Given the description of an element on the screen output the (x, y) to click on. 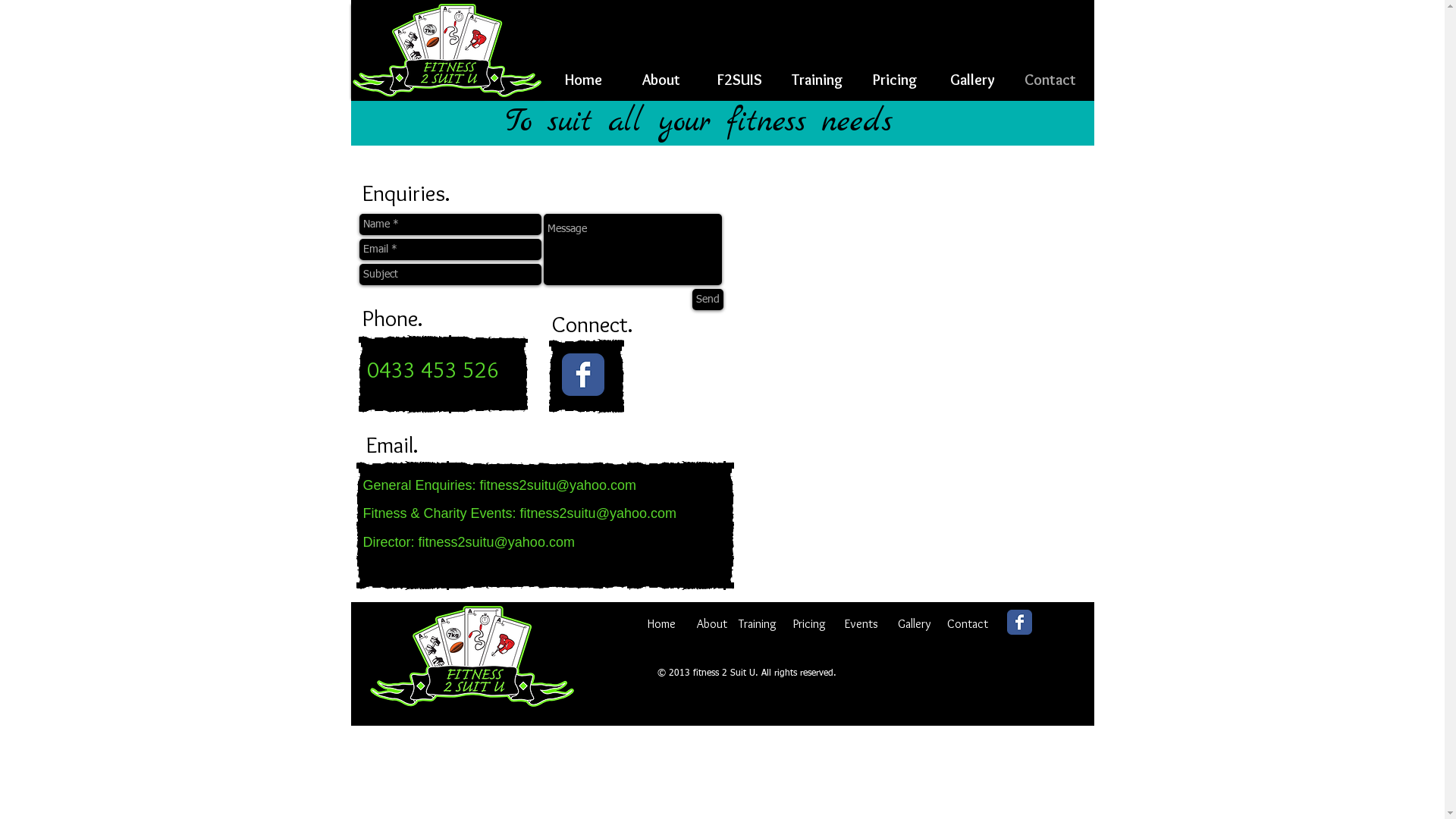
logo+1.png Element type: hover (446, 50)
Gallery Element type: text (913, 620)
Contact Element type: text (1049, 79)
Training Element type: text (757, 620)
Home Element type: text (661, 620)
Pricing Element type: text (809, 620)
fitness2suitu@yahoo.com Element type: text (558, 484)
logo+1.png Element type: hover (472, 656)
F2SUIS Element type: text (739, 79)
Gallery Element type: text (972, 79)
Contact Element type: text (966, 620)
Training Element type: text (817, 79)
Send Element type: text (706, 299)
Events Element type: text (861, 620)
Home Element type: text (583, 79)
fitness2suitu@yahoo.com Element type: text (496, 541)
fitness2suitu@yahoo.com Element type: text (598, 512)
About Element type: text (660, 79)
Pricing Element type: text (895, 79)
About Element type: text (711, 620)
